Given the description of an element on the screen output the (x, y) to click on. 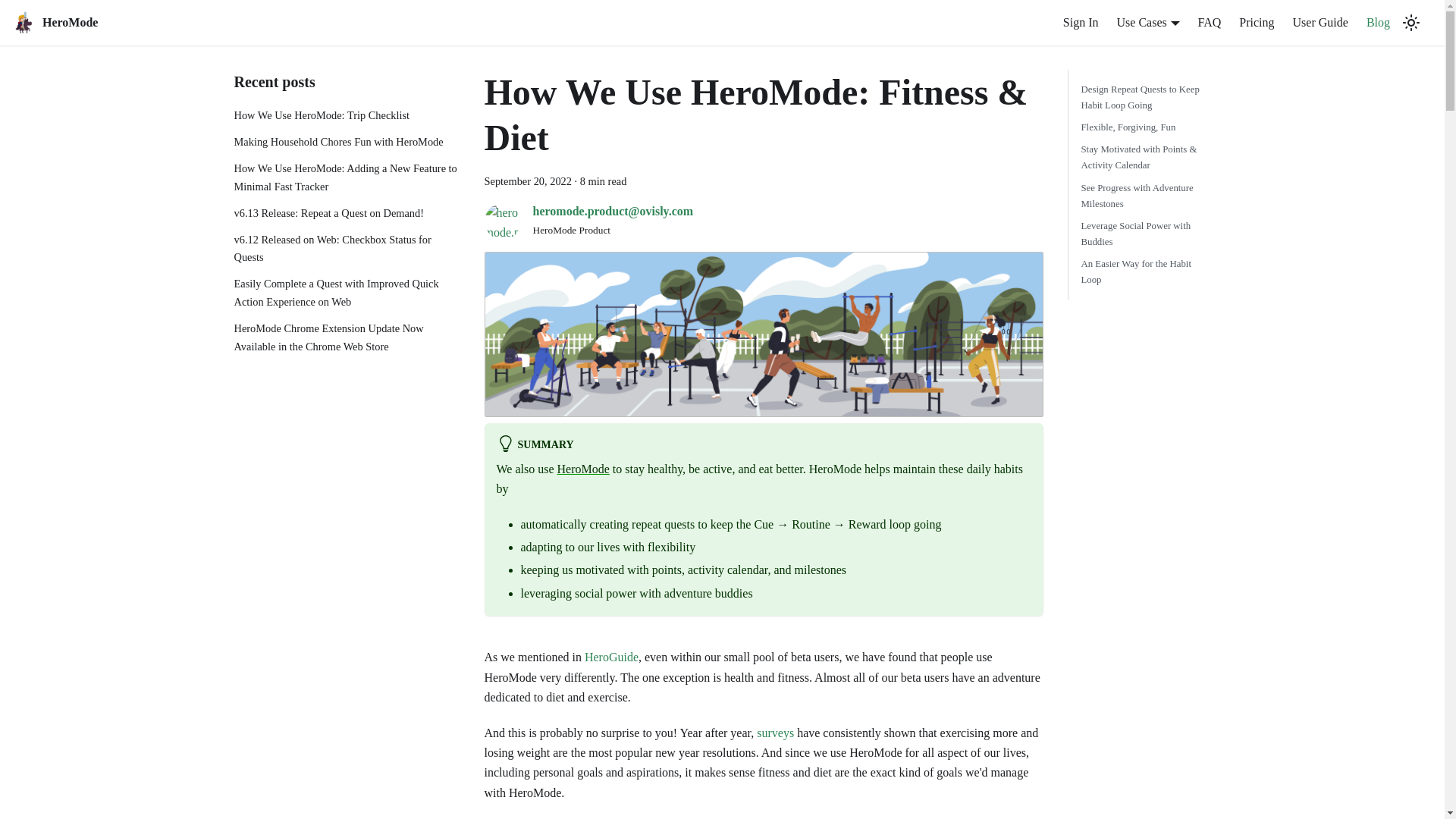
How We Use HeroMode: Trip Checklist (346, 116)
User Guide (1320, 22)
HeroMode (583, 468)
Sign In (1081, 22)
Making Household Chores Fun with HeroMode (346, 142)
Blog (1377, 22)
Use Cases (1147, 21)
HeroGuide (612, 656)
Pricing (1256, 22)
v6.13 Release: Repeat a Quest on Demand! (346, 213)
surveys (775, 732)
v6.12 Released on Web: Checkbox Status for Quests (346, 248)
